Given the description of an element on the screen output the (x, y) to click on. 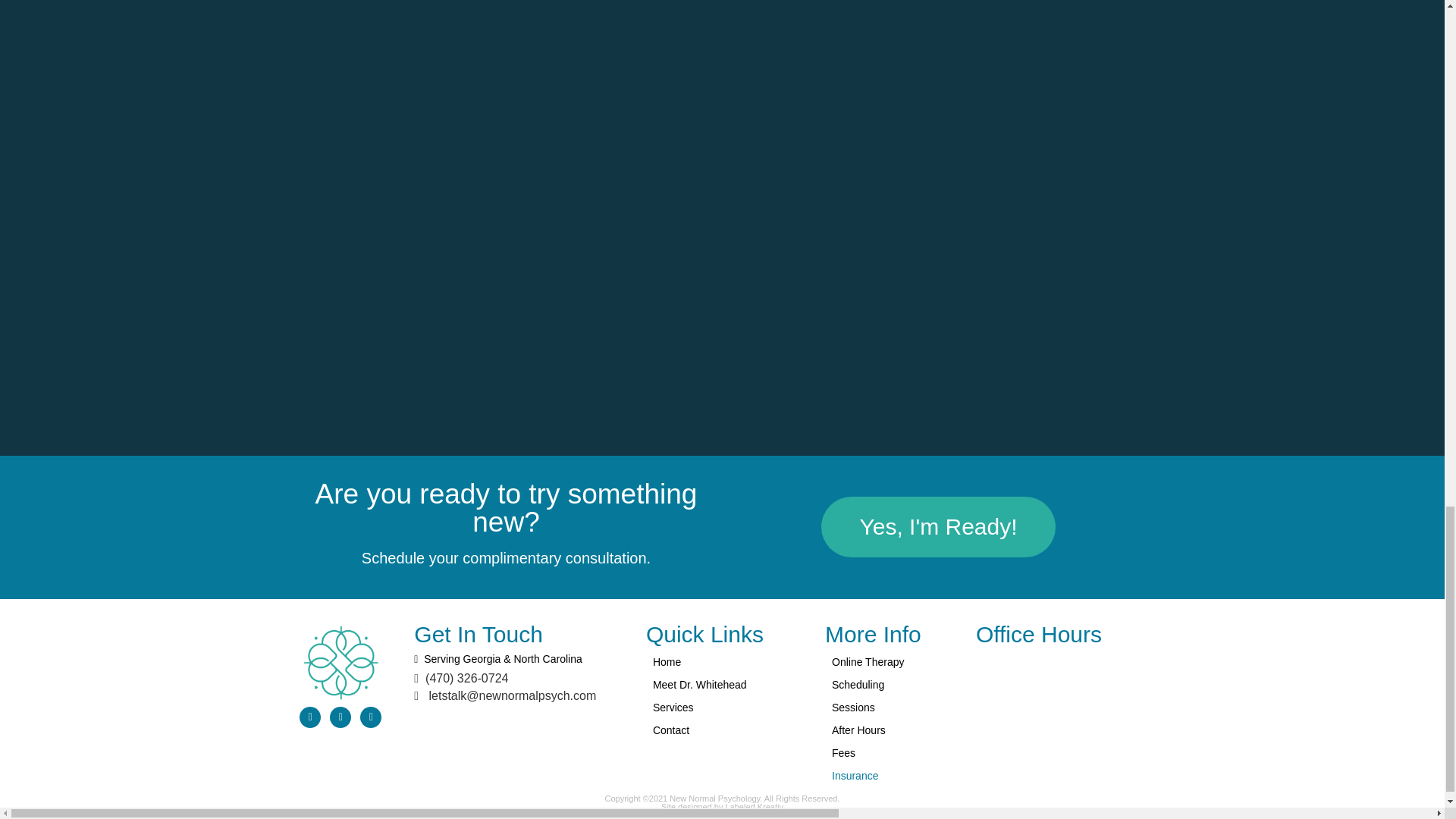
Online Therapy (889, 661)
Home (724, 661)
Contact (724, 730)
Yes, I'm Ready! (937, 526)
Scheduling (889, 684)
Meet Dr. Whitehead (724, 684)
Services (724, 707)
